Given the description of an element on the screen output the (x, y) to click on. 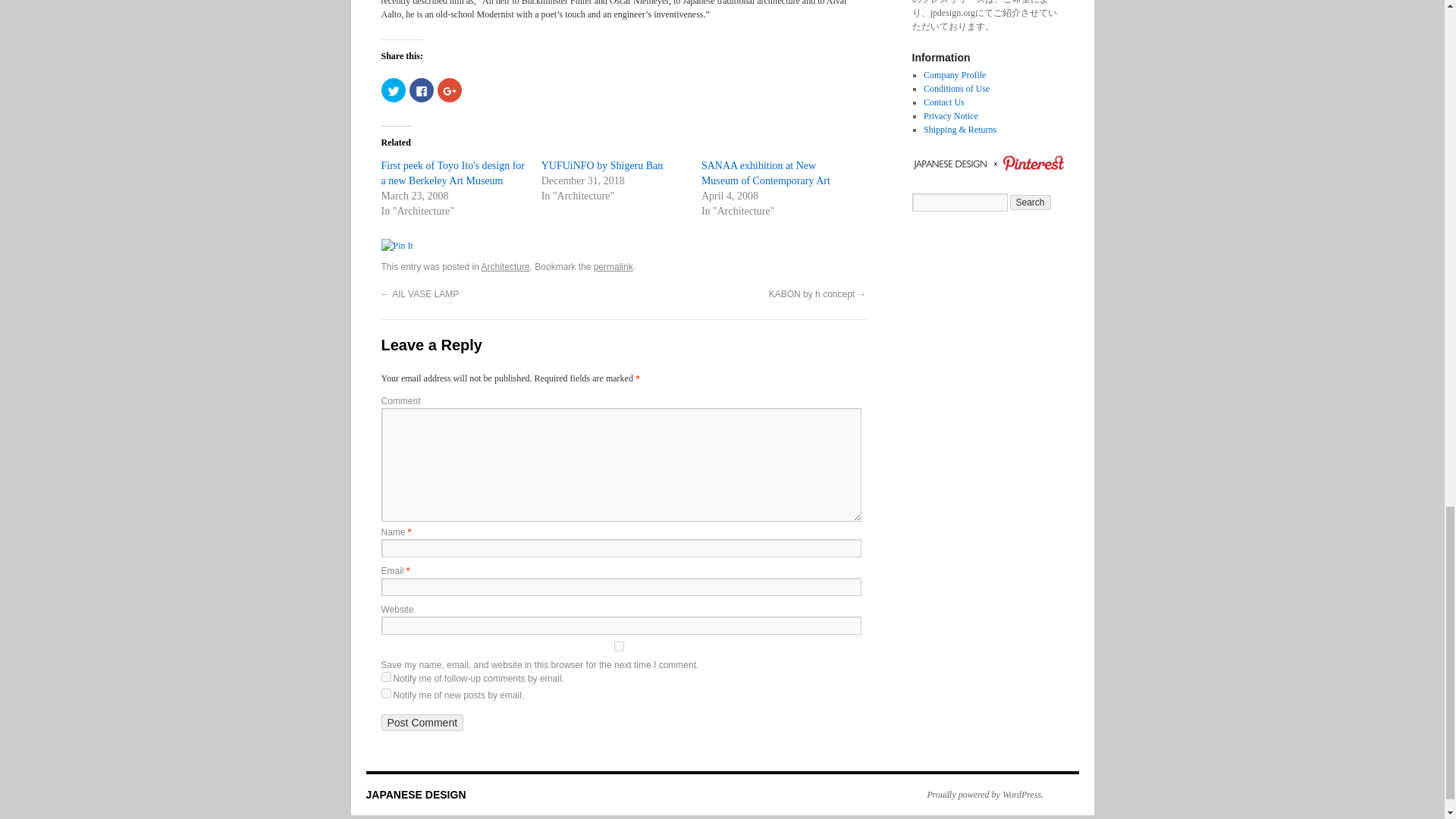
Click to share on Twitter (392, 89)
Post Comment (421, 722)
Click to share on Facebook (421, 89)
yes (618, 646)
SANAA exhibition at New Museum of Contemporary Art (765, 172)
YUFUiNFO by Shigeru Ban (602, 165)
Post Comment (421, 722)
Pin It (396, 245)
permalink (613, 266)
subscribe (385, 693)
Search (1030, 201)
subscribe (385, 676)
Architecture (505, 266)
